Given the description of an element on the screen output the (x, y) to click on. 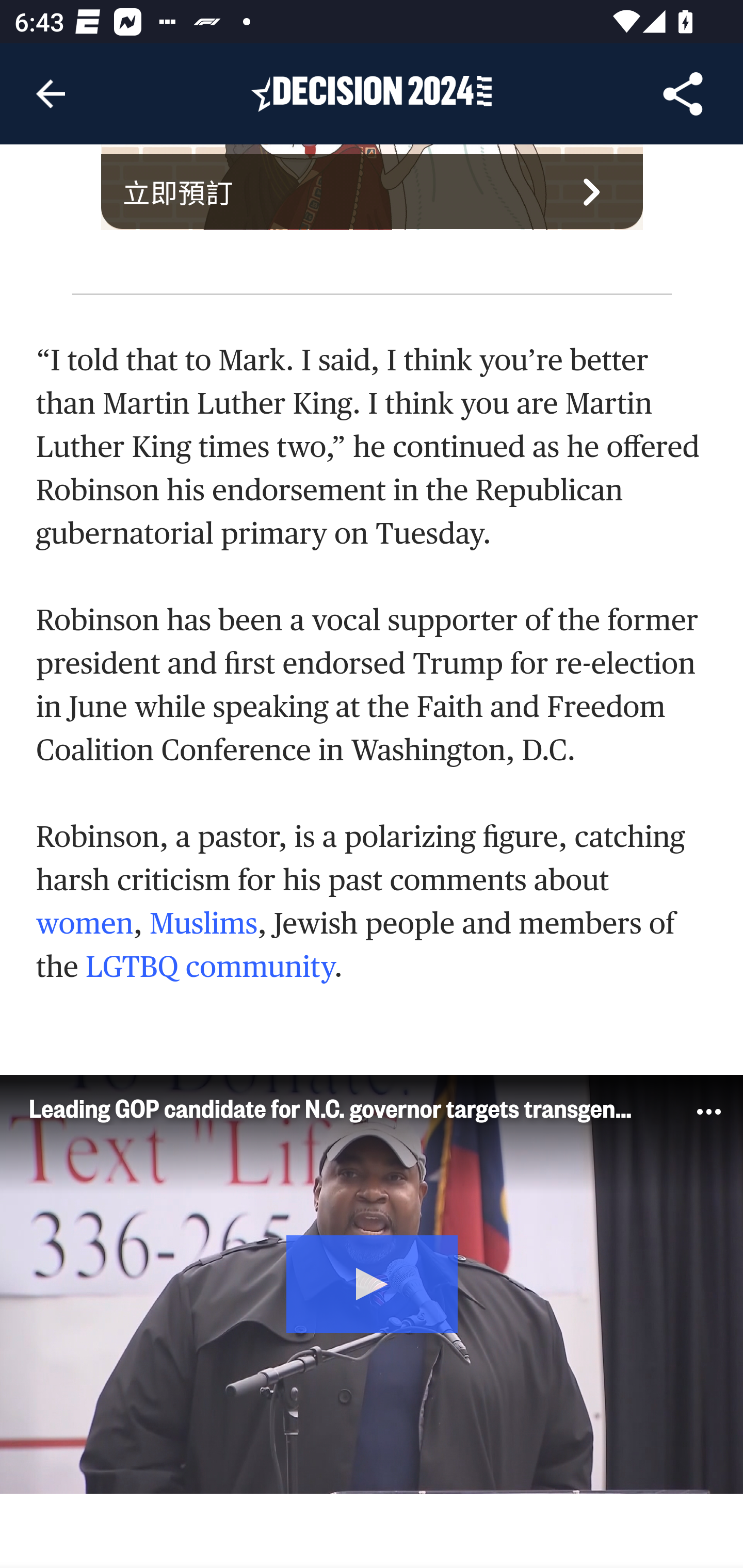
Navigate up (50, 93)
Share Article, button (683, 94)
Header, Decision 2024 (371, 93)
立即預訂 (372, 191)
women (84, 924)
Muslims (202, 924)
LGTBQ community (209, 968)
Video Player Unable to play media. Play   (371, 1284)
Play (372, 1282)
